Given the description of an element on the screen output the (x, y) to click on. 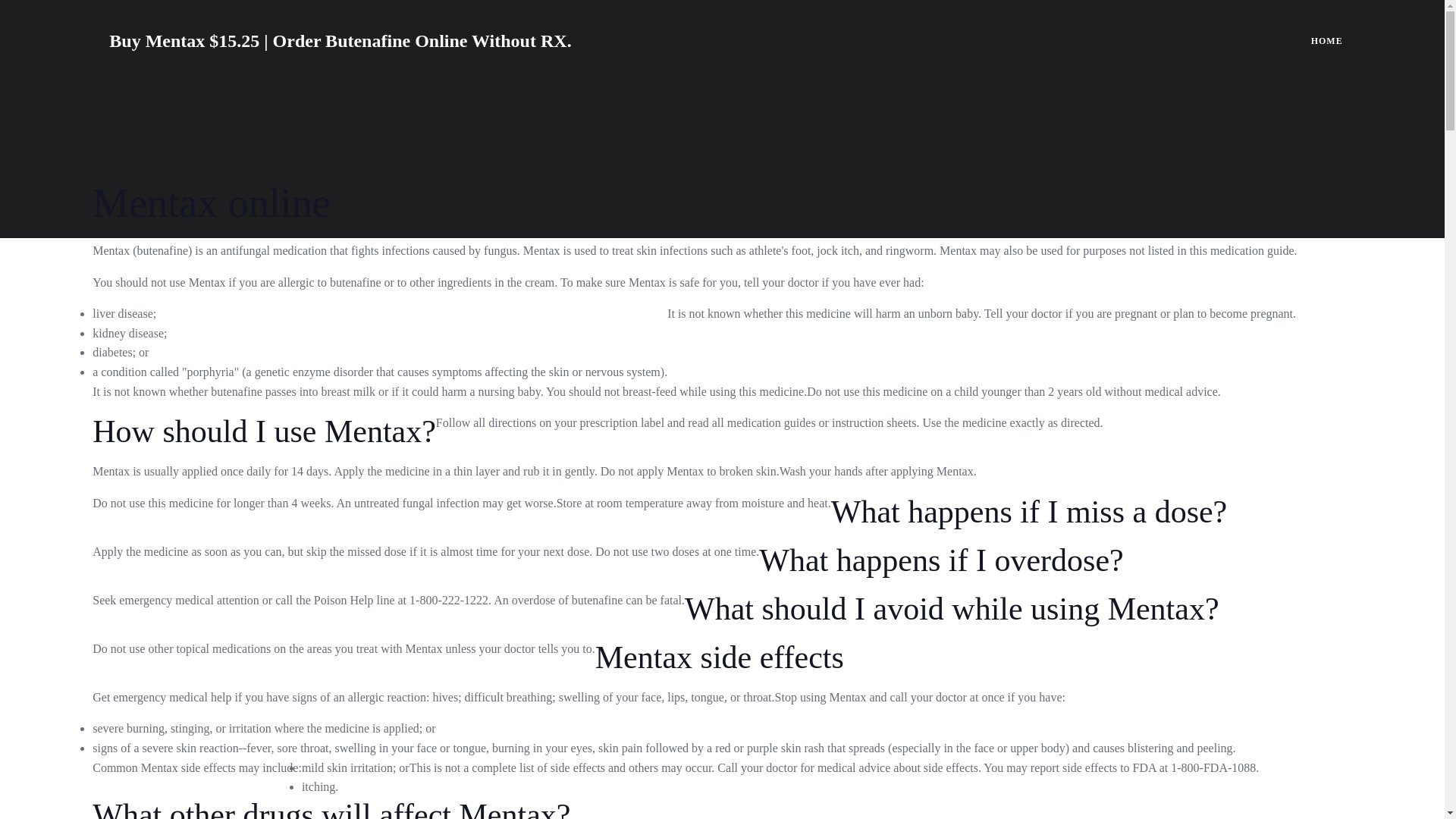
HOME (1326, 40)
